Given the description of an element on the screen output the (x, y) to click on. 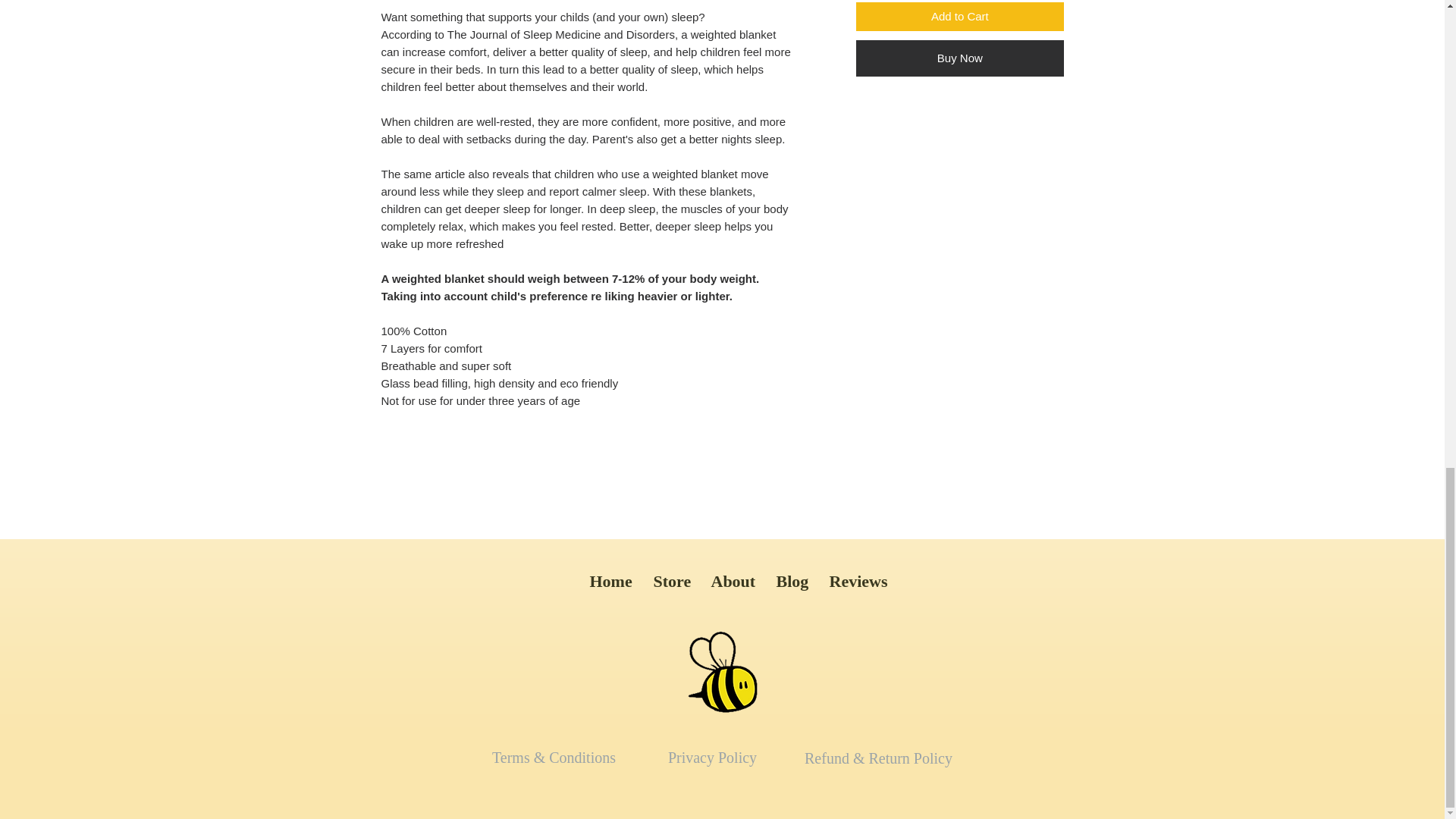
Home (610, 581)
Buy Now (959, 58)
Add to Cart (959, 16)
